Given the description of an element on the screen output the (x, y) to click on. 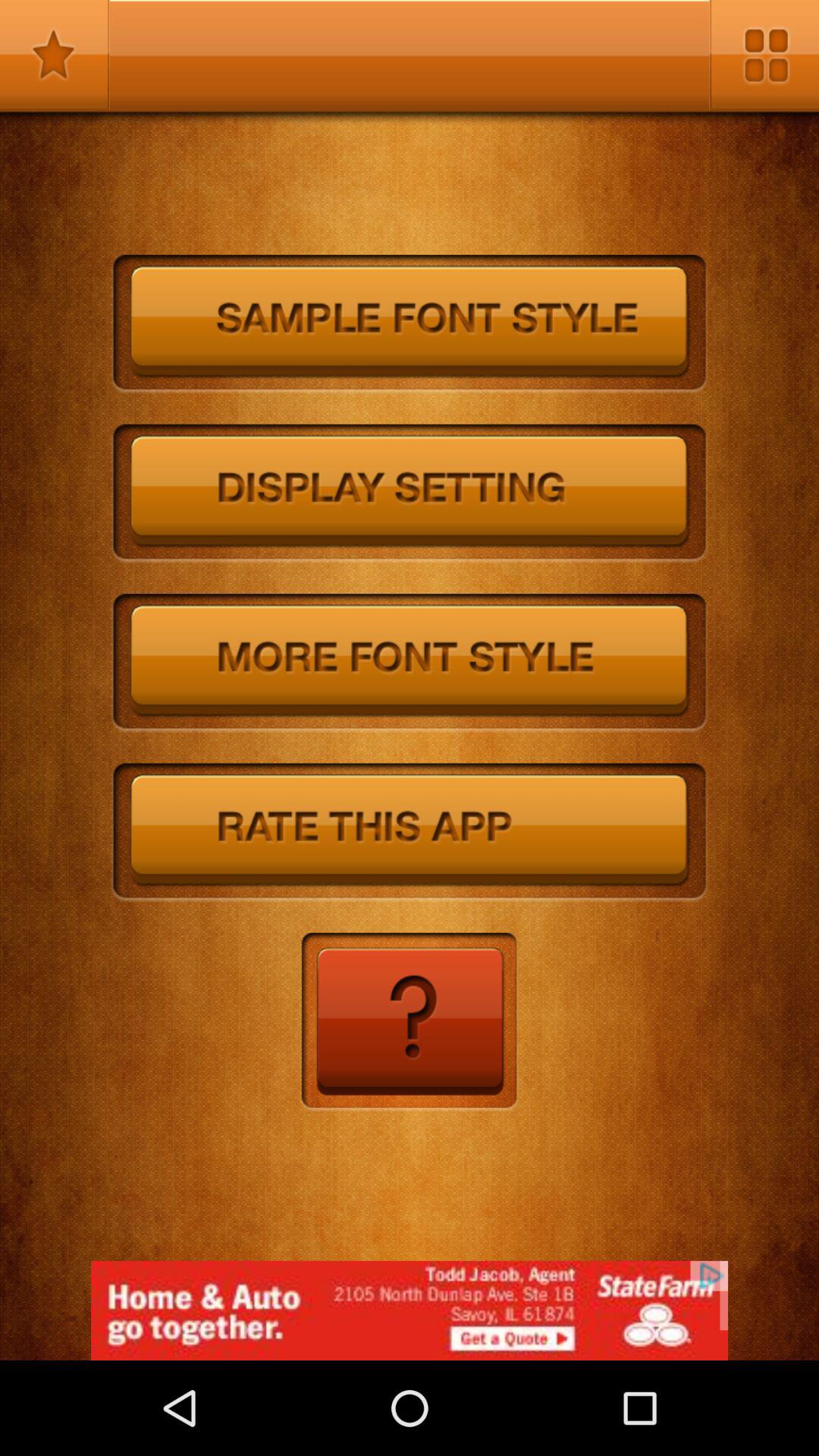
open advertisement (409, 1310)
